Given the description of an element on the screen output the (x, y) to click on. 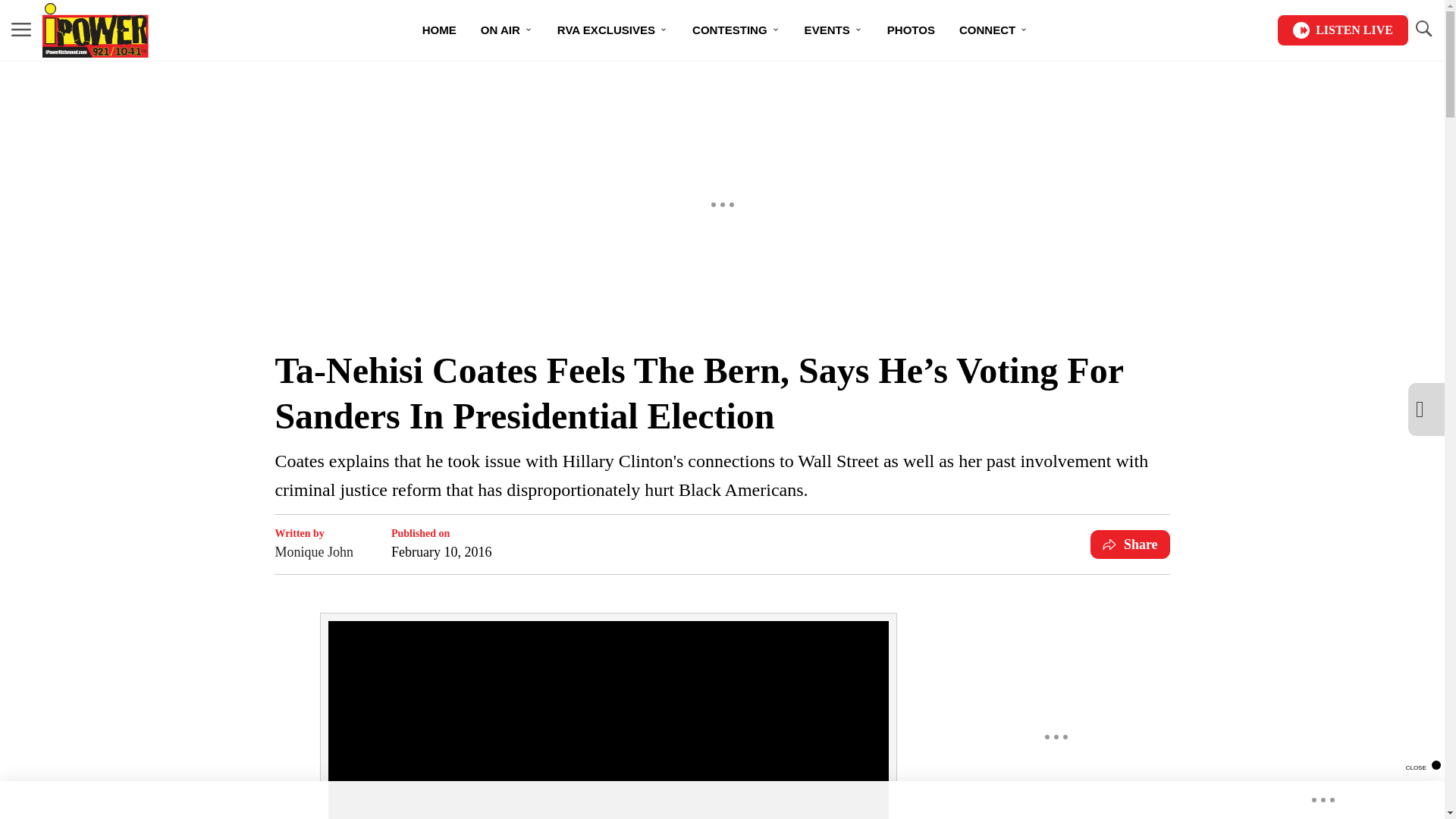
EVENTS (833, 30)
CONNECT (994, 30)
MENU (20, 30)
TOGGLE SEARCH (1422, 30)
PHOTOS (911, 30)
CONTESTING (735, 30)
TOGGLE SEARCH (1422, 28)
RVA EXCLUSIVES (611, 30)
HOME (439, 30)
MENU (20, 29)
